Given the description of an element on the screen output the (x, y) to click on. 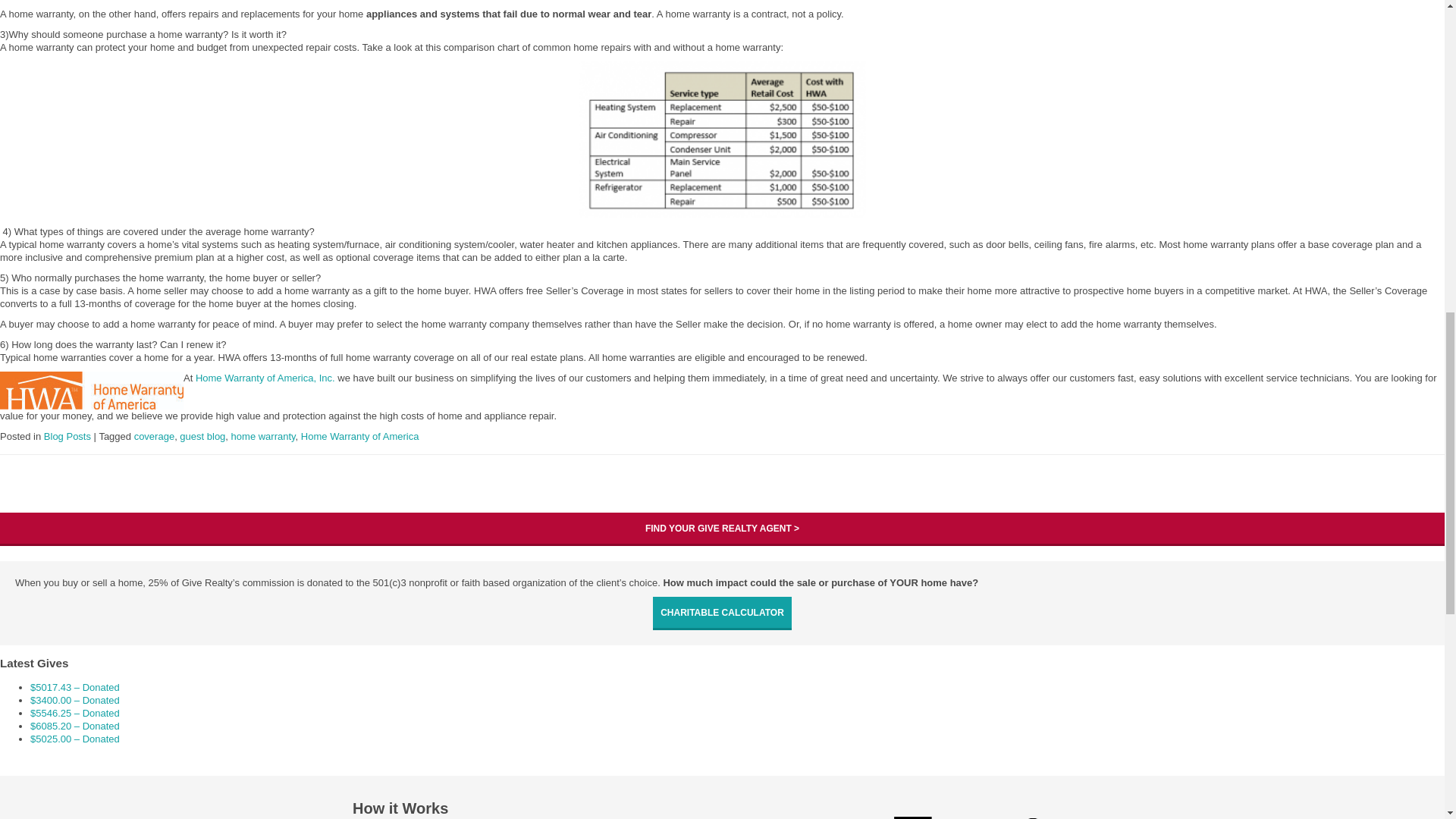
guest blog (202, 436)
Home Warranty of America, Inc. (264, 378)
home warranty (263, 436)
coverage (153, 436)
Blog Posts (66, 436)
